Given the description of an element on the screen output the (x, y) to click on. 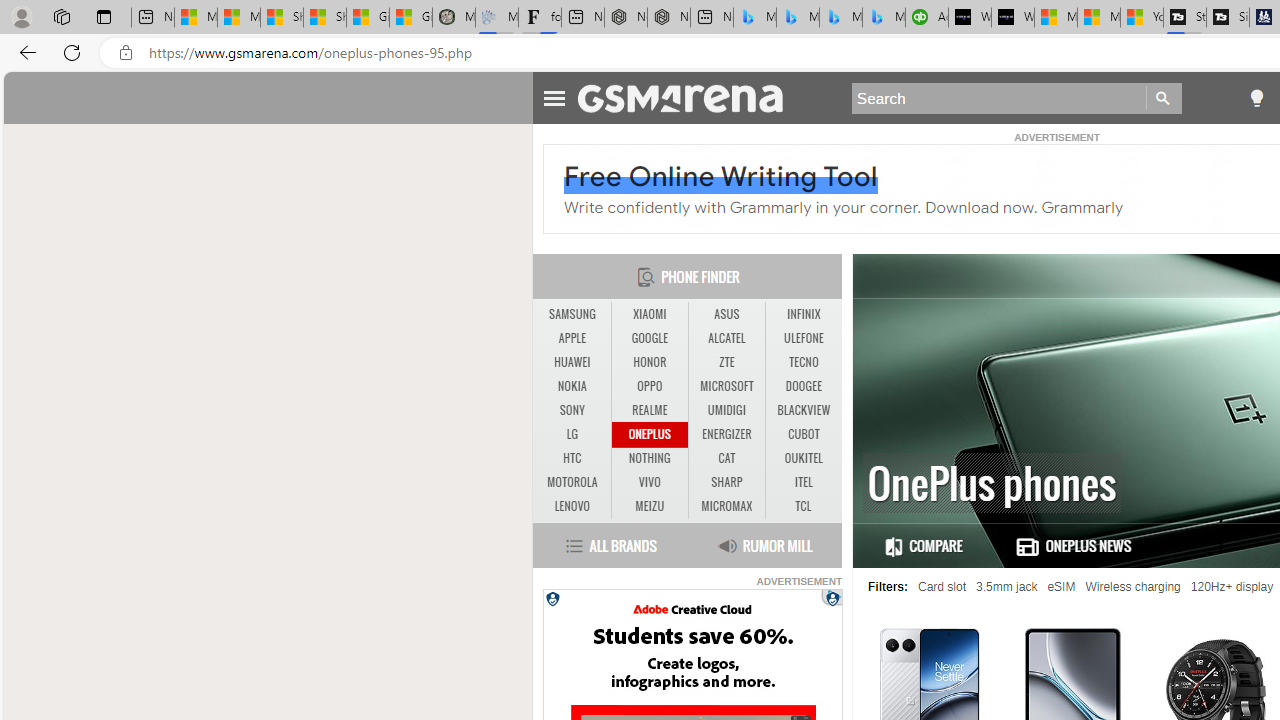
OPPO (649, 385)
Accounting Software for Accountants, CPAs and Bookkeepers (927, 17)
Manatee Mortality Statistics | FWC (453, 17)
AutomationID: anchor (689, 97)
NOKIA (571, 386)
